Given the description of an element on the screen output the (x, y) to click on. 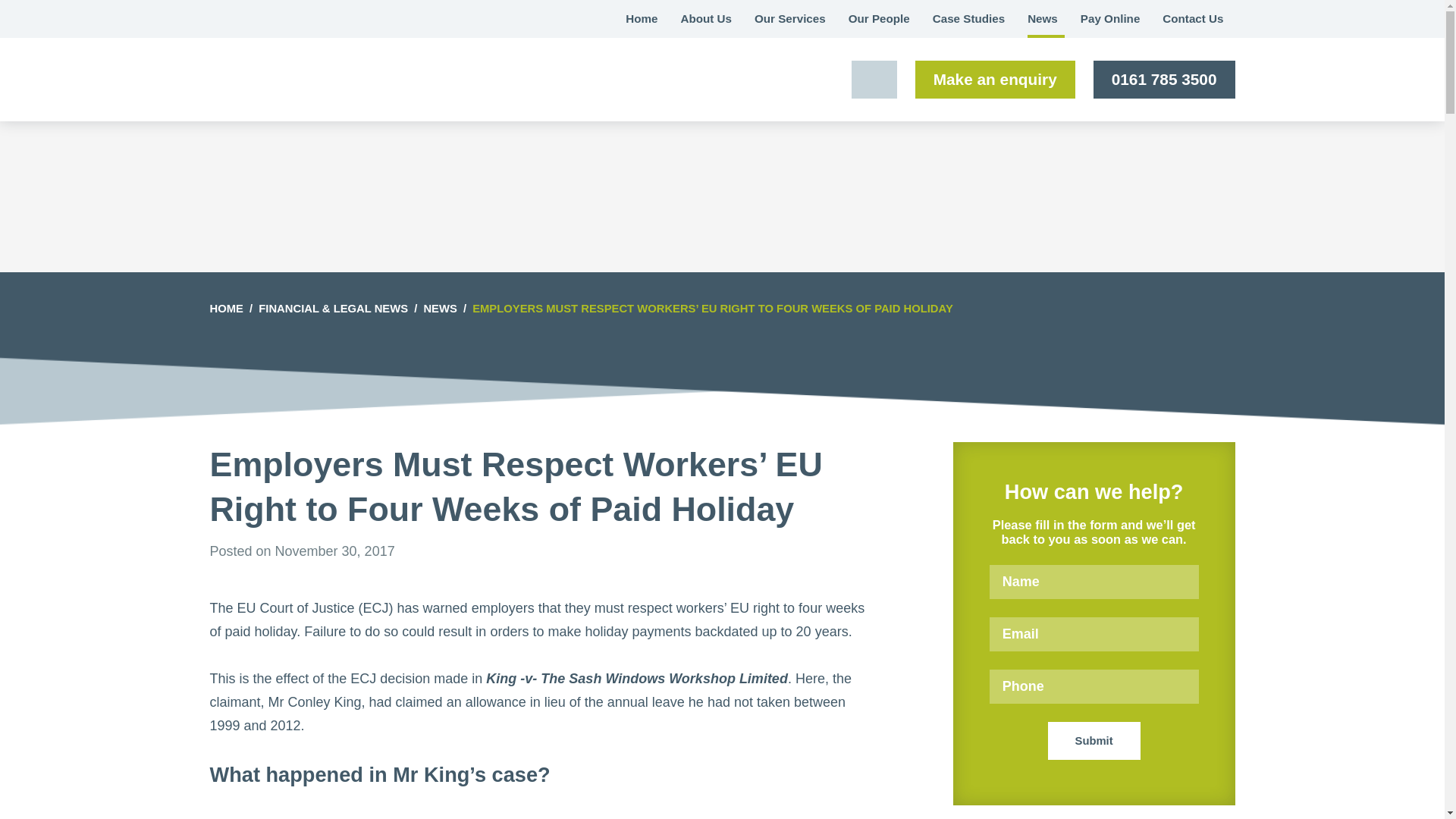
Home (641, 18)
Submit (1094, 740)
Case Studies (968, 18)
Our People (879, 18)
About Us (705, 18)
Our Services (789, 18)
